Given the description of an element on the screen output the (x, y) to click on. 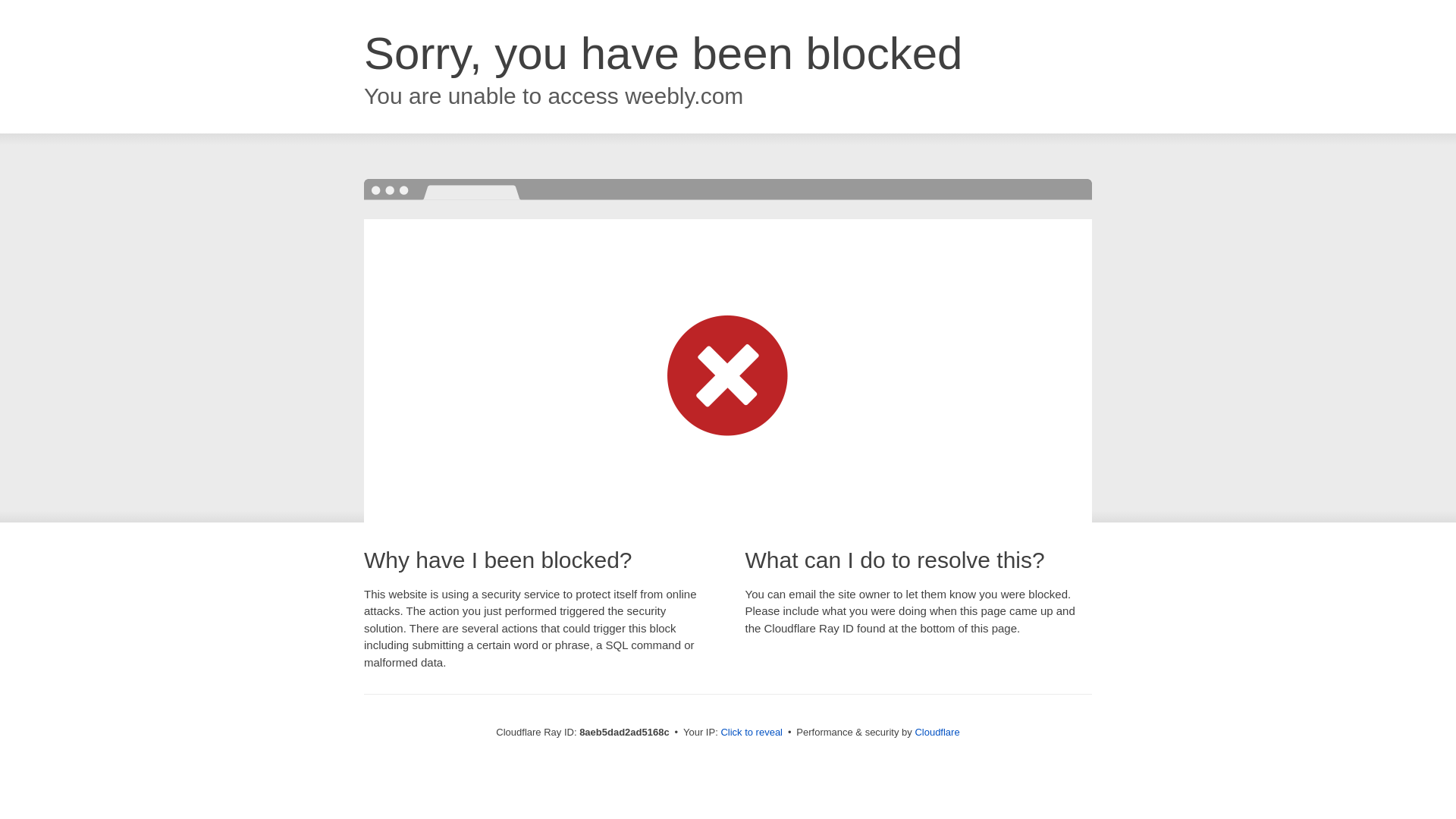
Click to reveal (751, 732)
Cloudflare (936, 731)
